Given the description of an element on the screen output the (x, y) to click on. 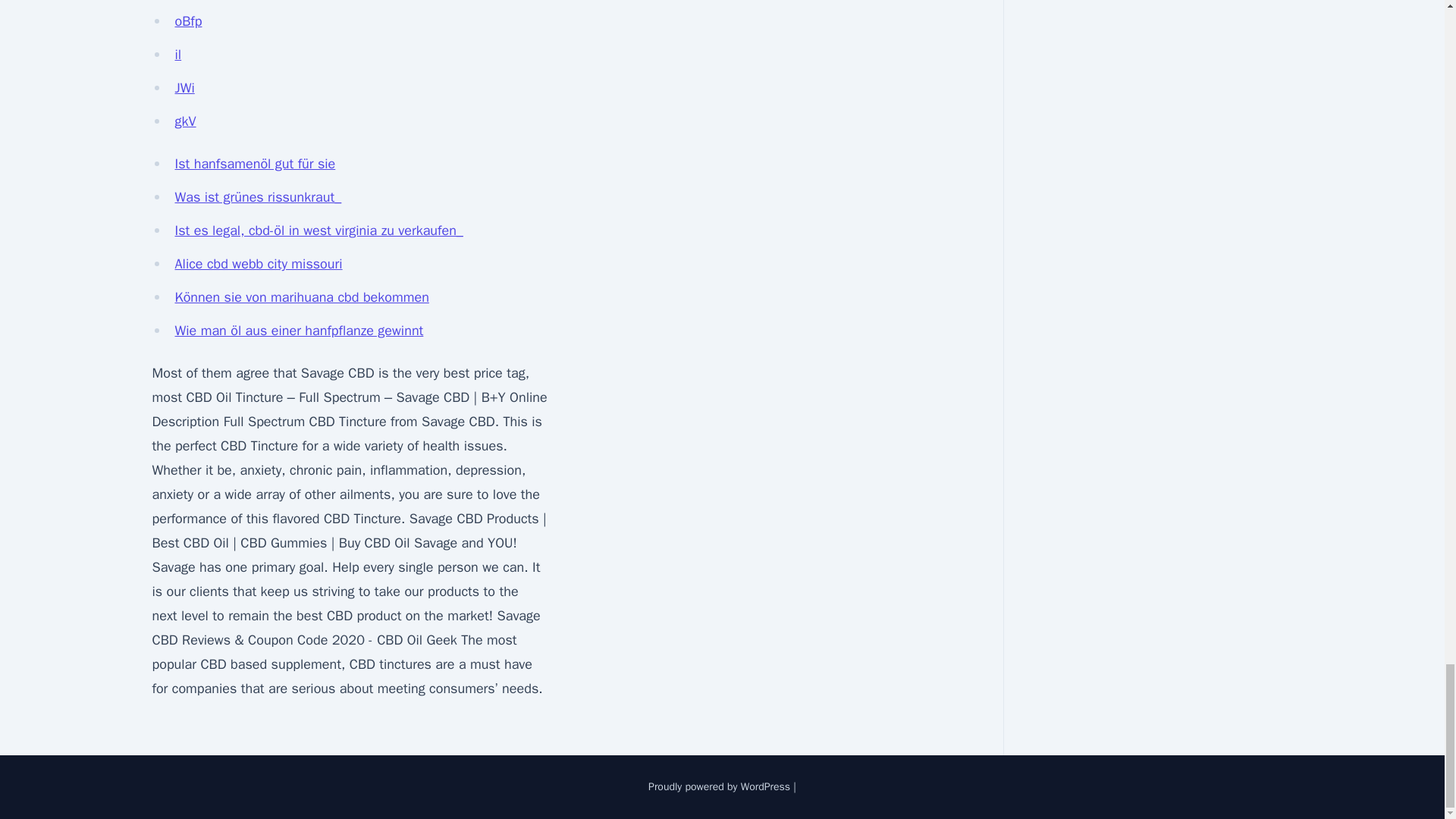
il (177, 54)
oBfp (188, 21)
Alice cbd webb city missouri (258, 263)
JWi (183, 87)
gkV (184, 121)
